Given the description of an element on the screen output the (x, y) to click on. 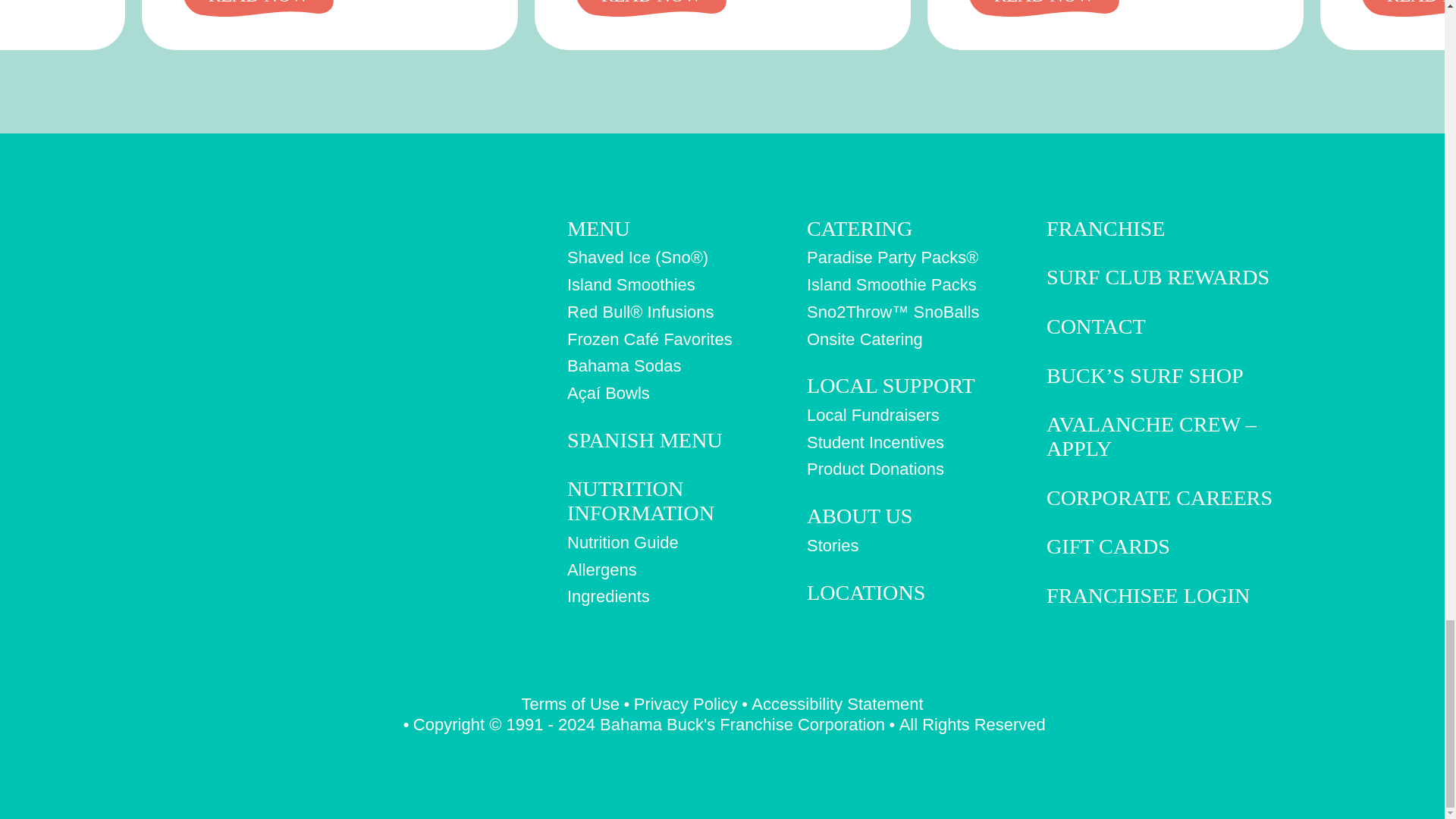
READ NOW (651, 7)
READ NOW (1044, 7)
READ NOW (258, 7)
